Given the description of an element on the screen output the (x, y) to click on. 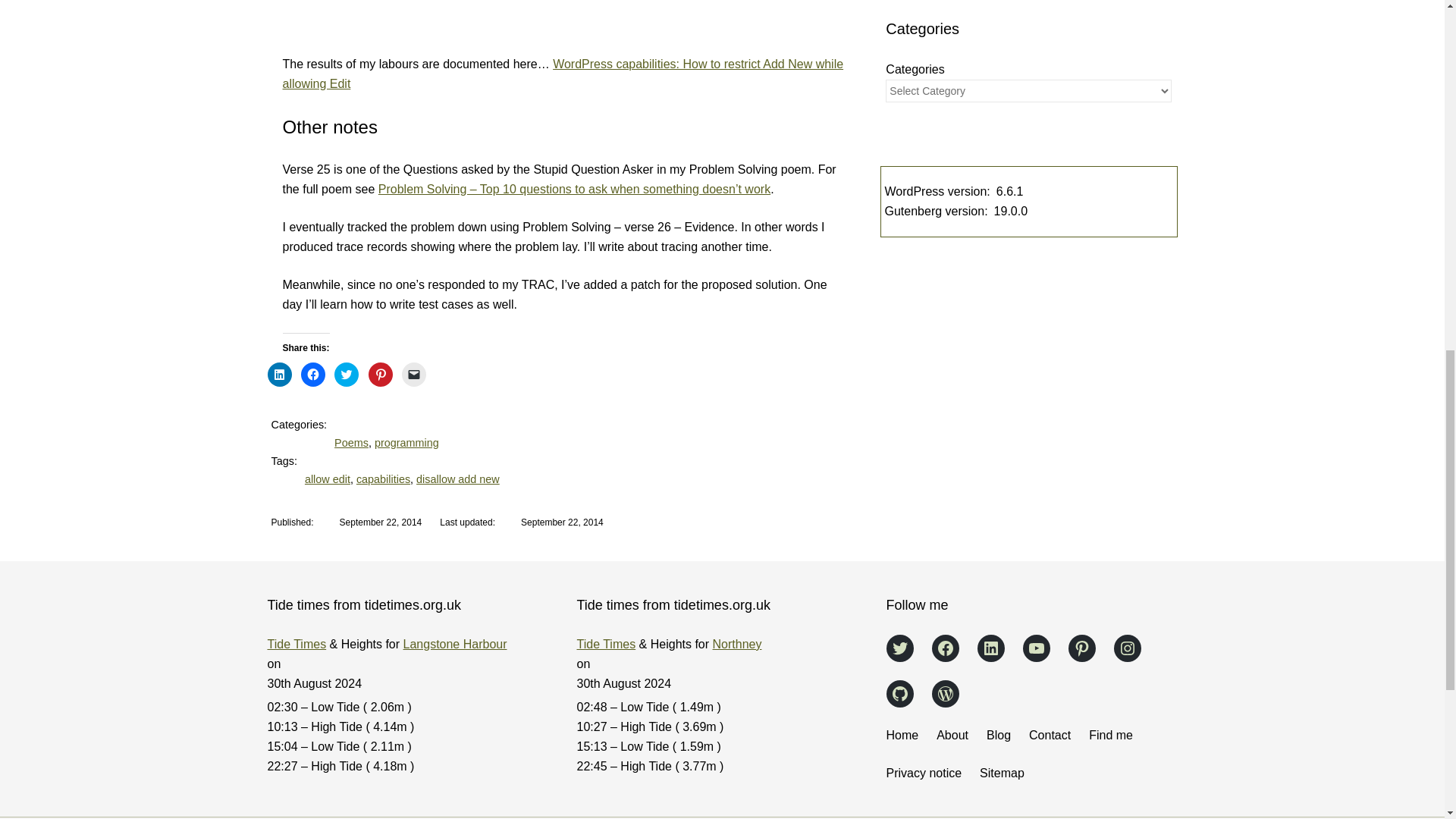
Langstone Harbour tide times (454, 644)
Click to share on LinkedIn (278, 374)
Click to share on Facebook (312, 374)
Click to email a link to a friend (413, 374)
Poems (351, 442)
Northney tide times (737, 644)
Click to share on Pinterest (380, 374)
tide times (296, 644)
tide times (605, 644)
